Given the description of an element on the screen output the (x, y) to click on. 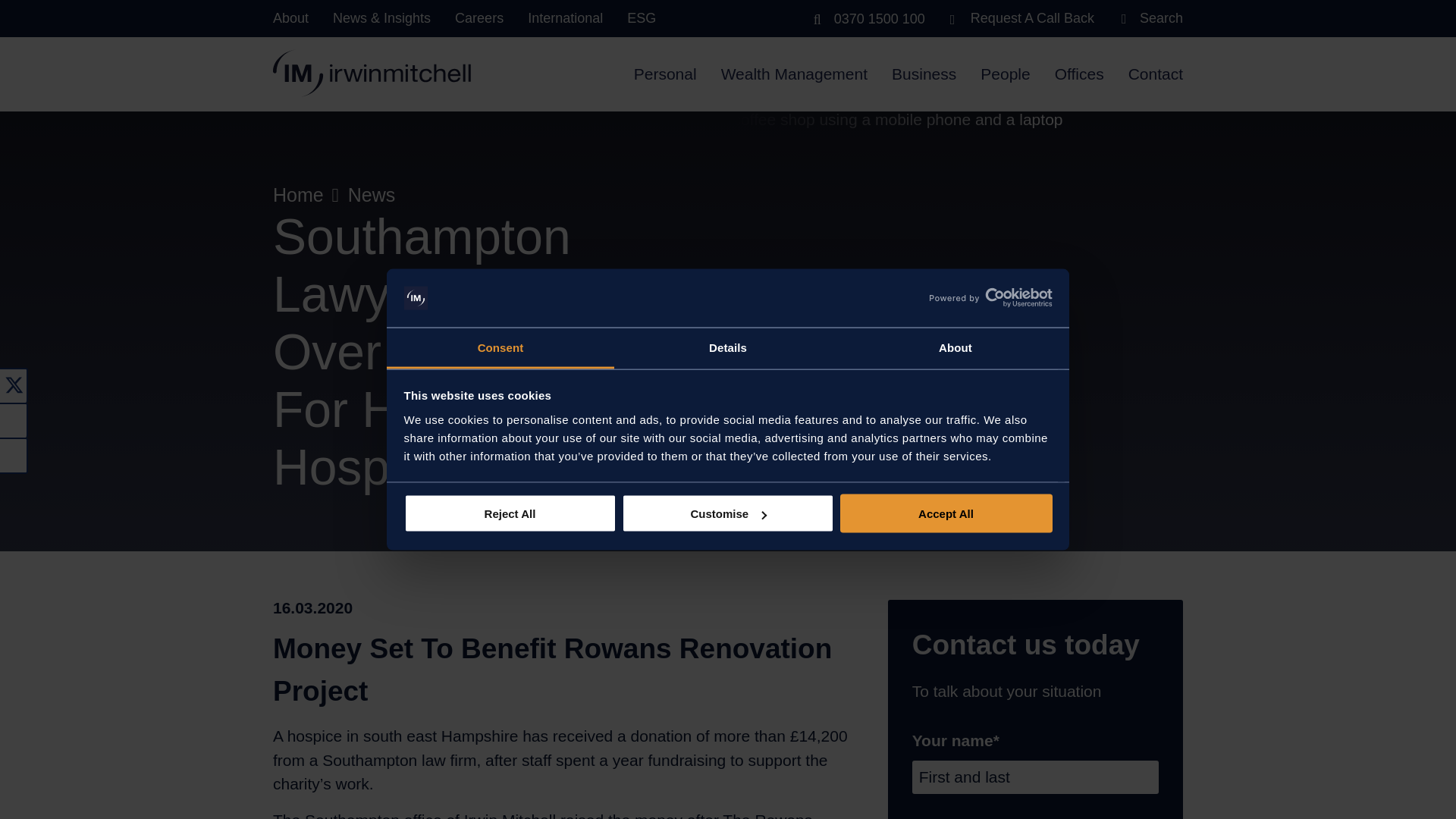
About (954, 347)
Consent (500, 347)
Details (727, 347)
